Given the description of an element on the screen output the (x, y) to click on. 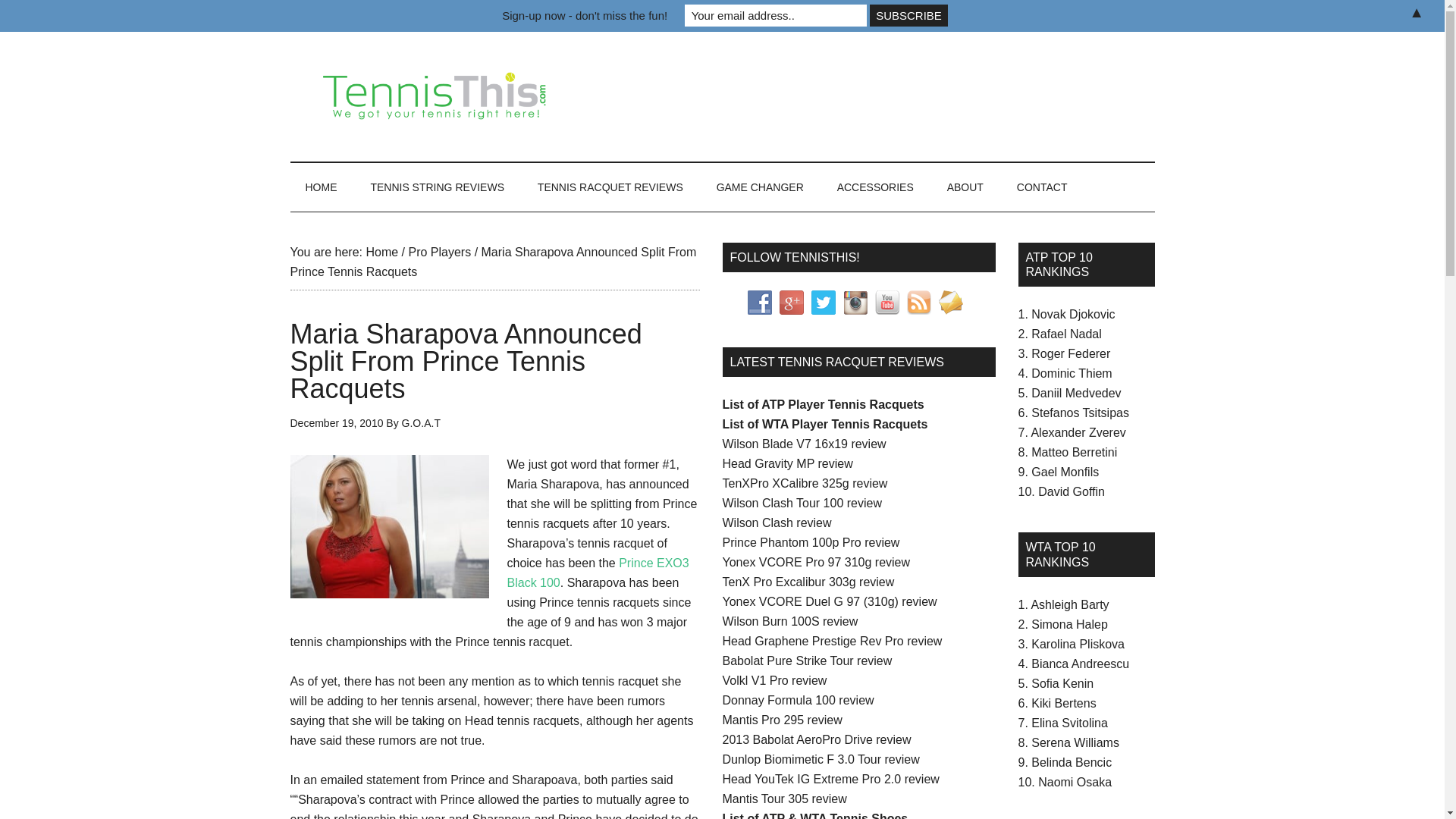
ABOUT (964, 186)
Tennisthis.com (433, 97)
 Instagram (855, 302)
TENNIS STRING REVIEWS (437, 186)
 Facebook (759, 302)
 Twitter (822, 302)
GAME CHANGER (759, 186)
Prince EXO3 Black 100 (597, 572)
ACCESSORIES (875, 186)
G.O.A.T (421, 422)
CONTACT (1042, 186)
Home (381, 251)
 RSS (919, 302)
 YouTube (887, 302)
TENNIS RACQUET REVIEWS (610, 186)
